Given the description of an element on the screen output the (x, y) to click on. 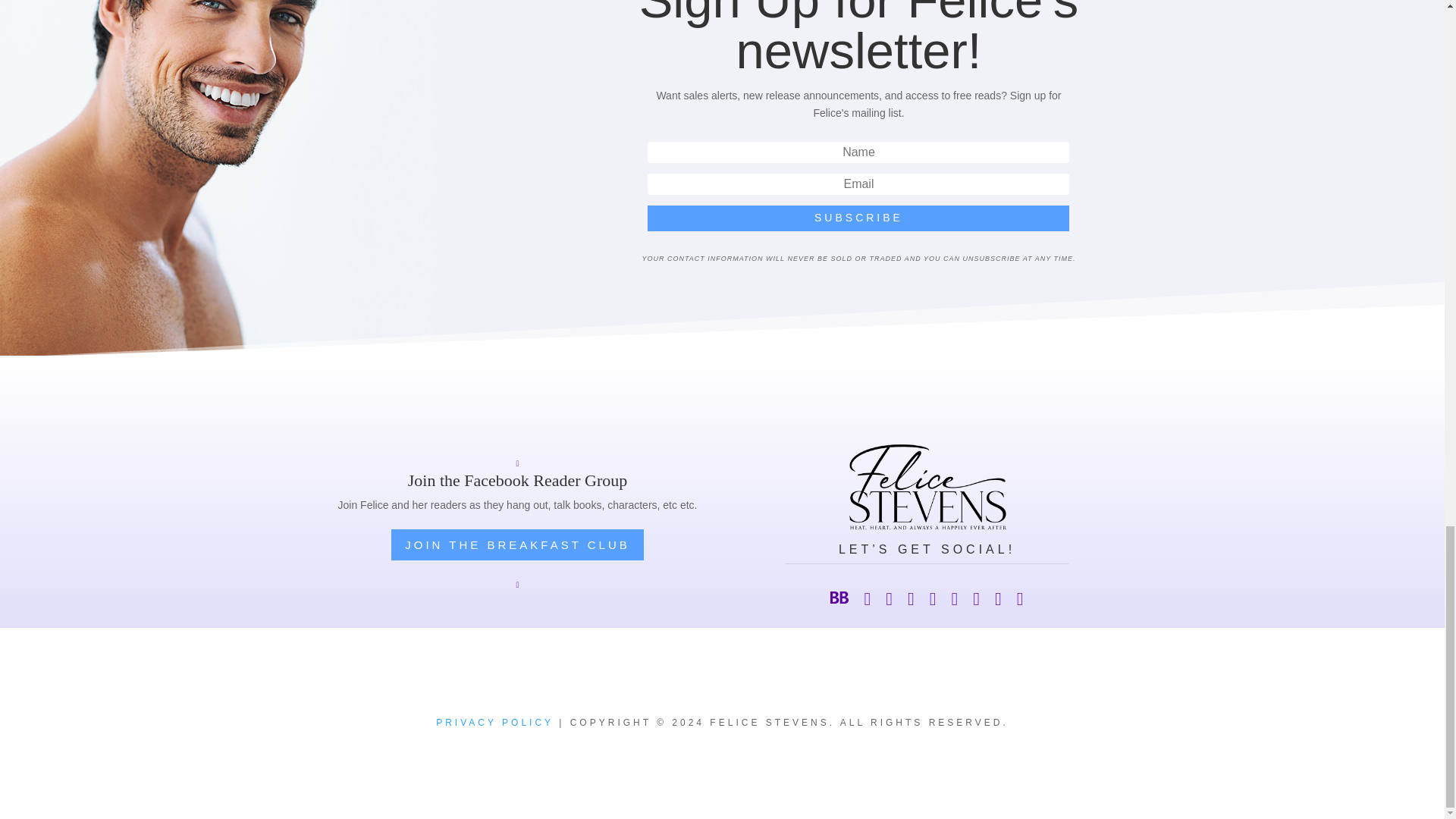
Felice Stevens (926, 487)
SUBSCRIBE (857, 217)
JOIN THE BREAKFAST CLUB (517, 544)
